Given the description of an element on the screen output the (x, y) to click on. 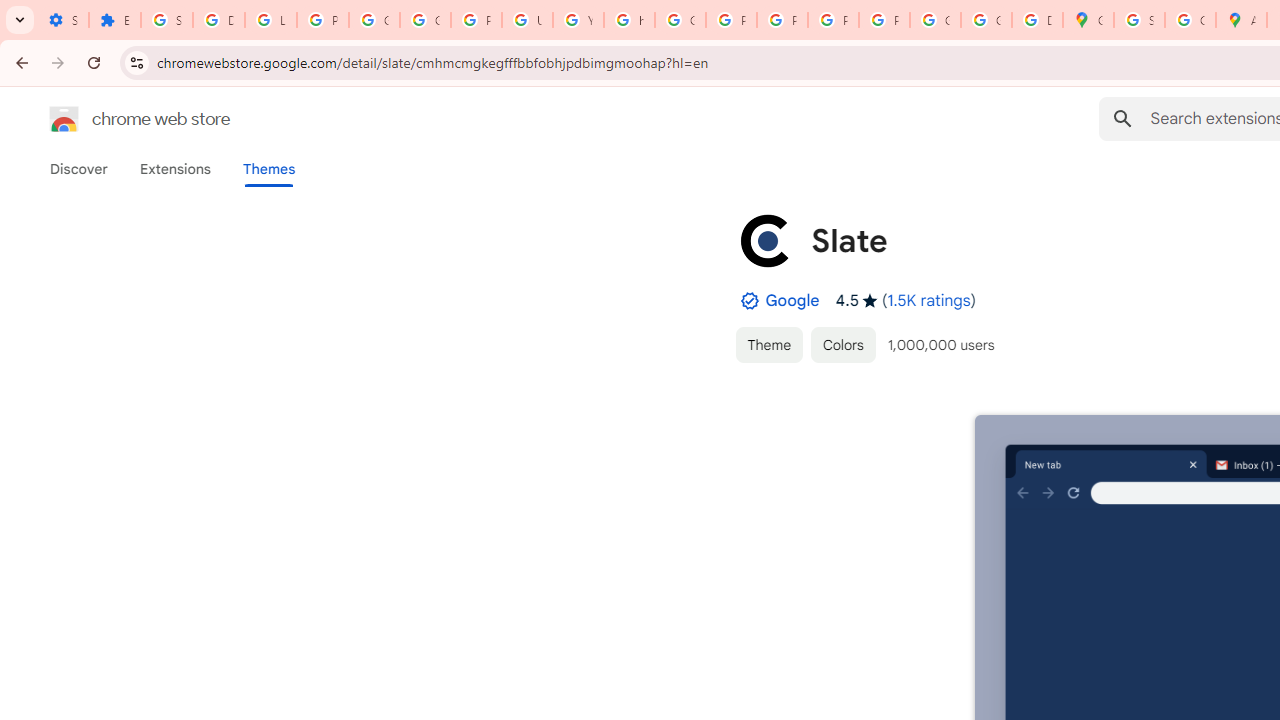
https://scholar.google.com/ (629, 20)
1.5K ratings (929, 300)
Discover (79, 169)
Colors (843, 344)
Theme (768, 344)
Google Account Help (374, 20)
Chrome Web Store logo (63, 118)
Create your Google Account (1189, 20)
